Given the description of an element on the screen output the (x, y) to click on. 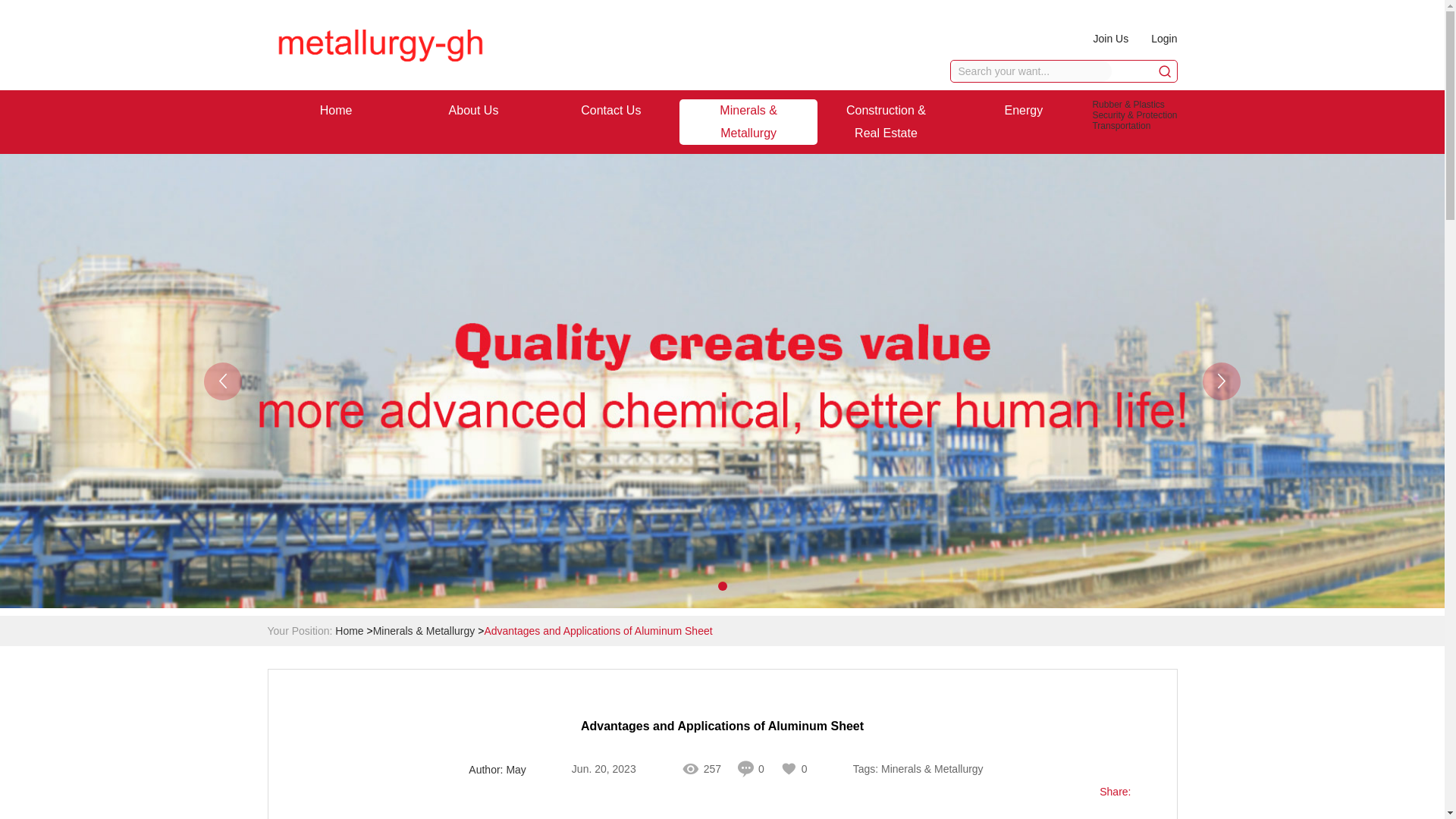
Transportation (1121, 125)
Energy (1023, 110)
Login (1163, 38)
Guest Post Services - Metallurgy (379, 44)
Home (348, 630)
About Us (473, 110)
Advantages and Applications of Aluminum Sheet (597, 630)
Home (336, 110)
Join Us (1111, 38)
Author: May (496, 769)
Home (336, 110)
Transportation (1121, 125)
About Us (473, 110)
Contact Us (611, 110)
Contact Us (611, 110)
